Given the description of an element on the screen output the (x, y) to click on. 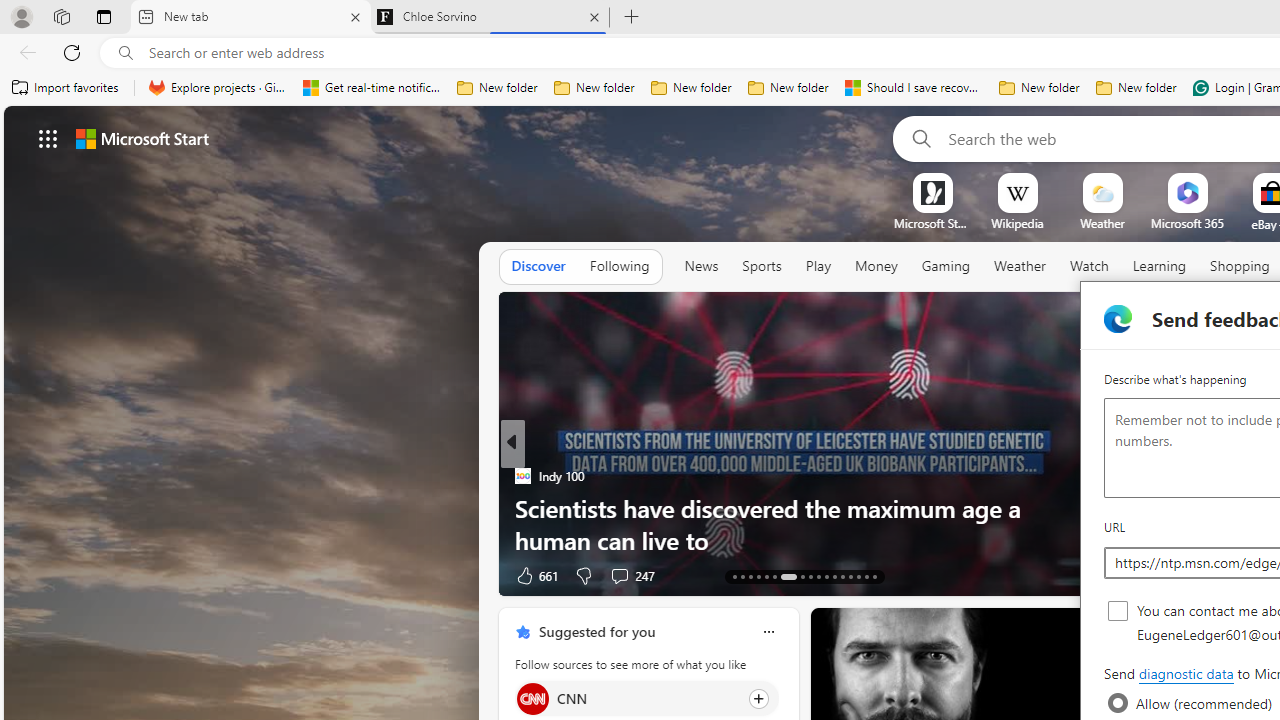
Microsoft 365 (1186, 223)
App launcher (47, 138)
Chloe Sorvino (490, 17)
AutomationID: tab-14 (742, 576)
Play (817, 265)
Click to follow source CNN (646, 698)
AutomationID: tab-13 (733, 576)
AutomationID: tab-39 (850, 576)
View comments 42 Comment (11, 575)
Suggested for you (596, 631)
